Given the description of an element on the screen output the (x, y) to click on. 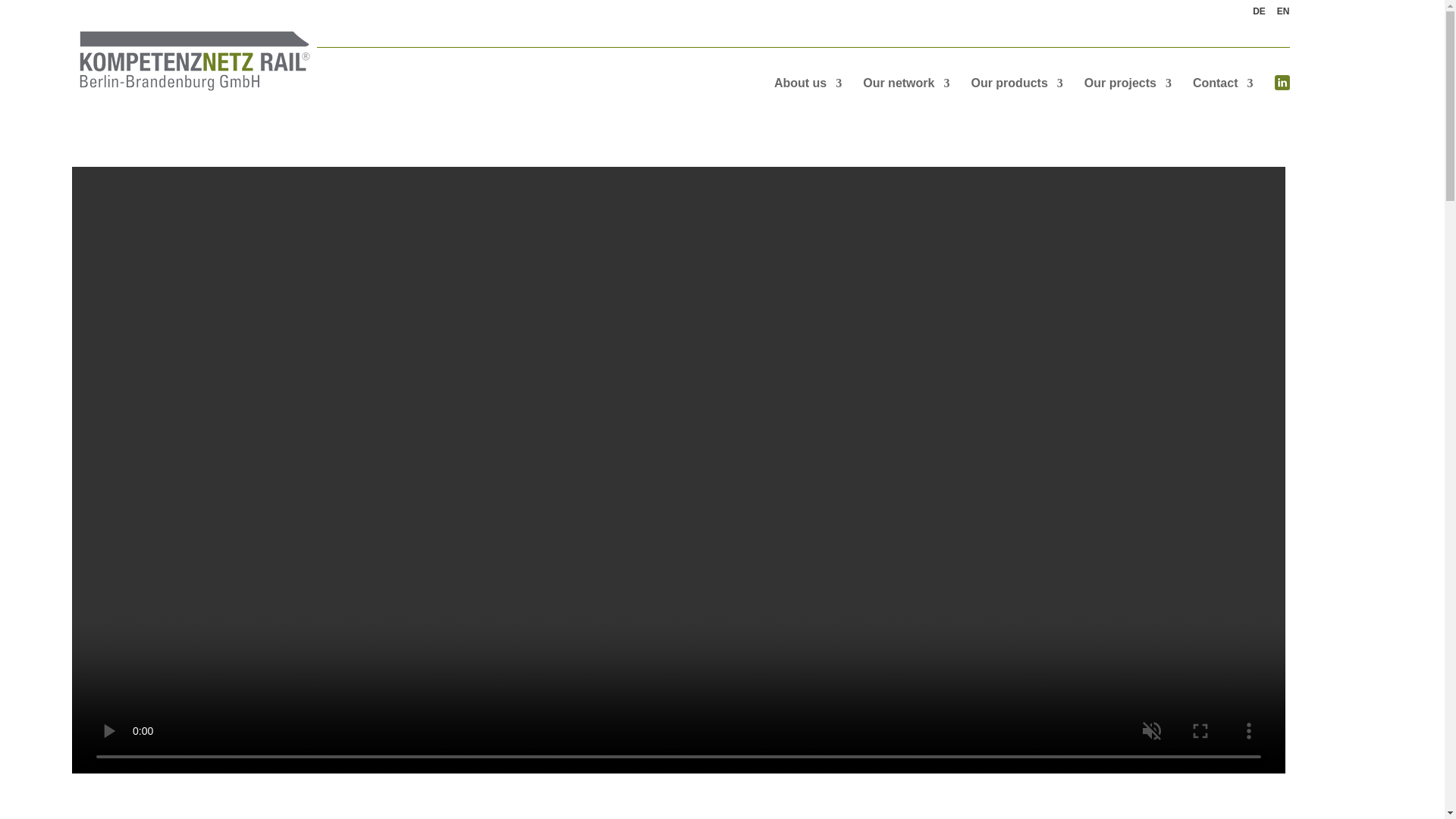
Contact (1222, 82)
Our projects (1128, 82)
Our products (1016, 82)
About us (807, 82)
Our network (906, 82)
